Given the description of an element on the screen output the (x, y) to click on. 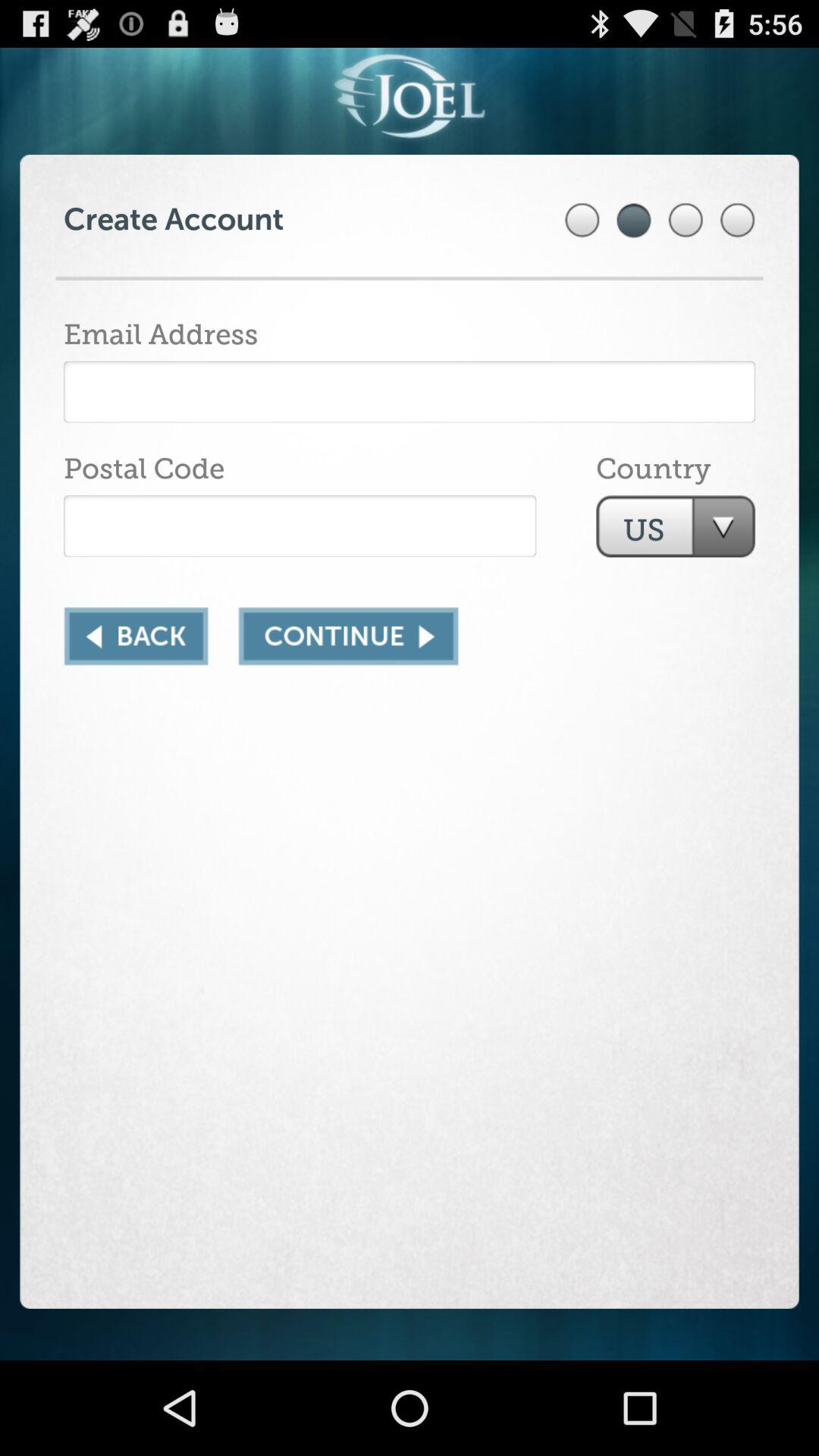
enter postal code (299, 525)
